Given the description of an element on the screen output the (x, y) to click on. 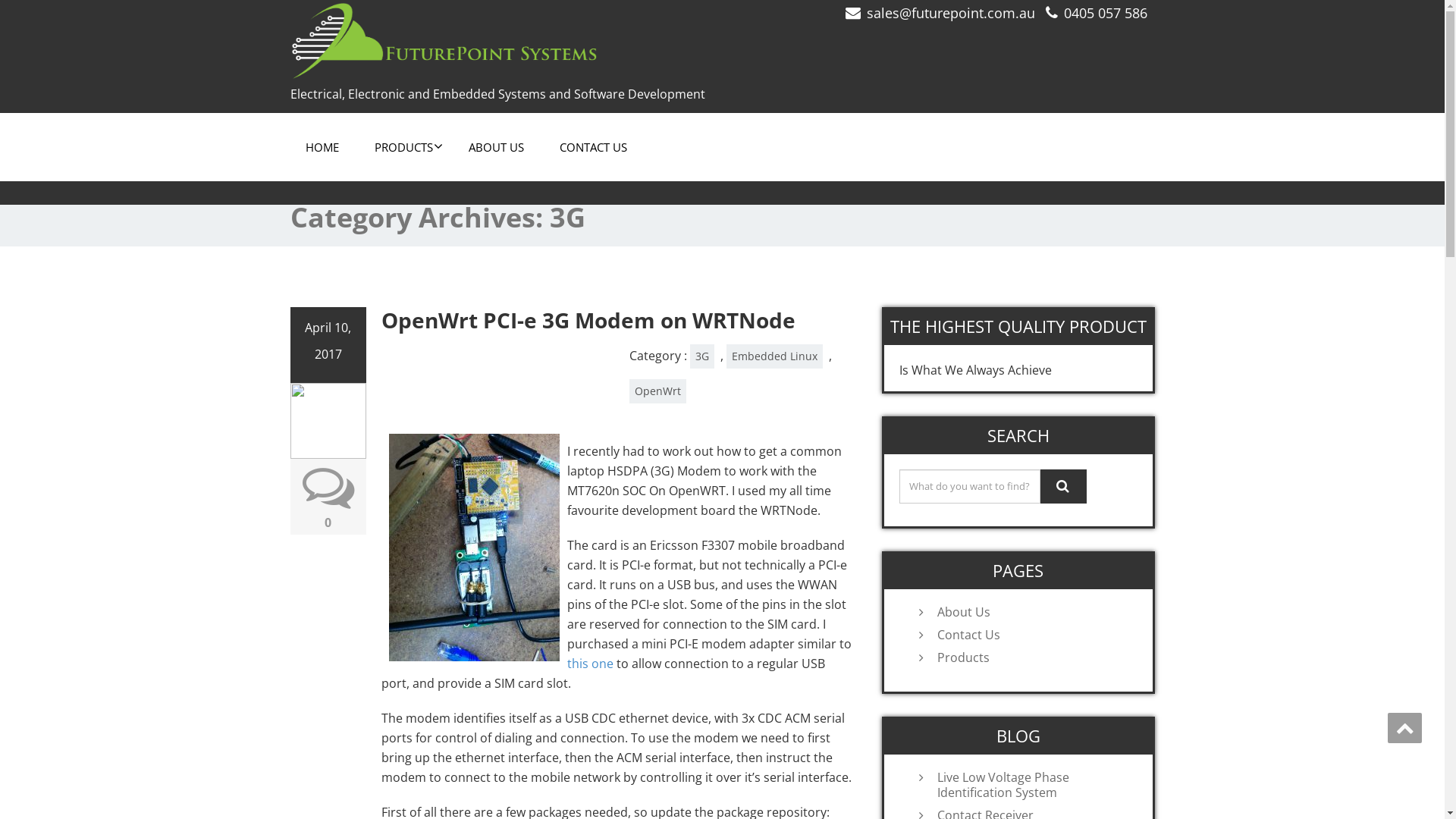
Live Low Voltage Phase Identification System Element type: text (1033, 784)
Go Top Element type: hover (1404, 727)
Embedded Linux Element type: text (774, 356)
Contact Us Element type: text (1033, 634)
0 Element type: text (327, 522)
0405 057 586 Element type: text (1104, 12)
HOME Element type: text (321, 146)
ABOUT US Element type: text (496, 146)
About Us Element type: text (1033, 611)
OpenWrt PCI-e 3G Modem on WRTNode Element type: text (587, 319)
OpenWrt Element type: text (657, 391)
PRODUCTS Element type: text (403, 146)
CONTACT US Element type: text (593, 146)
FuturePoint Systems Element type: hover (499, 40)
Products Element type: text (1033, 657)
this one Element type: text (590, 663)
sales@futurepoint.com.au Element type: text (950, 12)
3G Element type: text (702, 356)
